Given the description of an element on the screen output the (x, y) to click on. 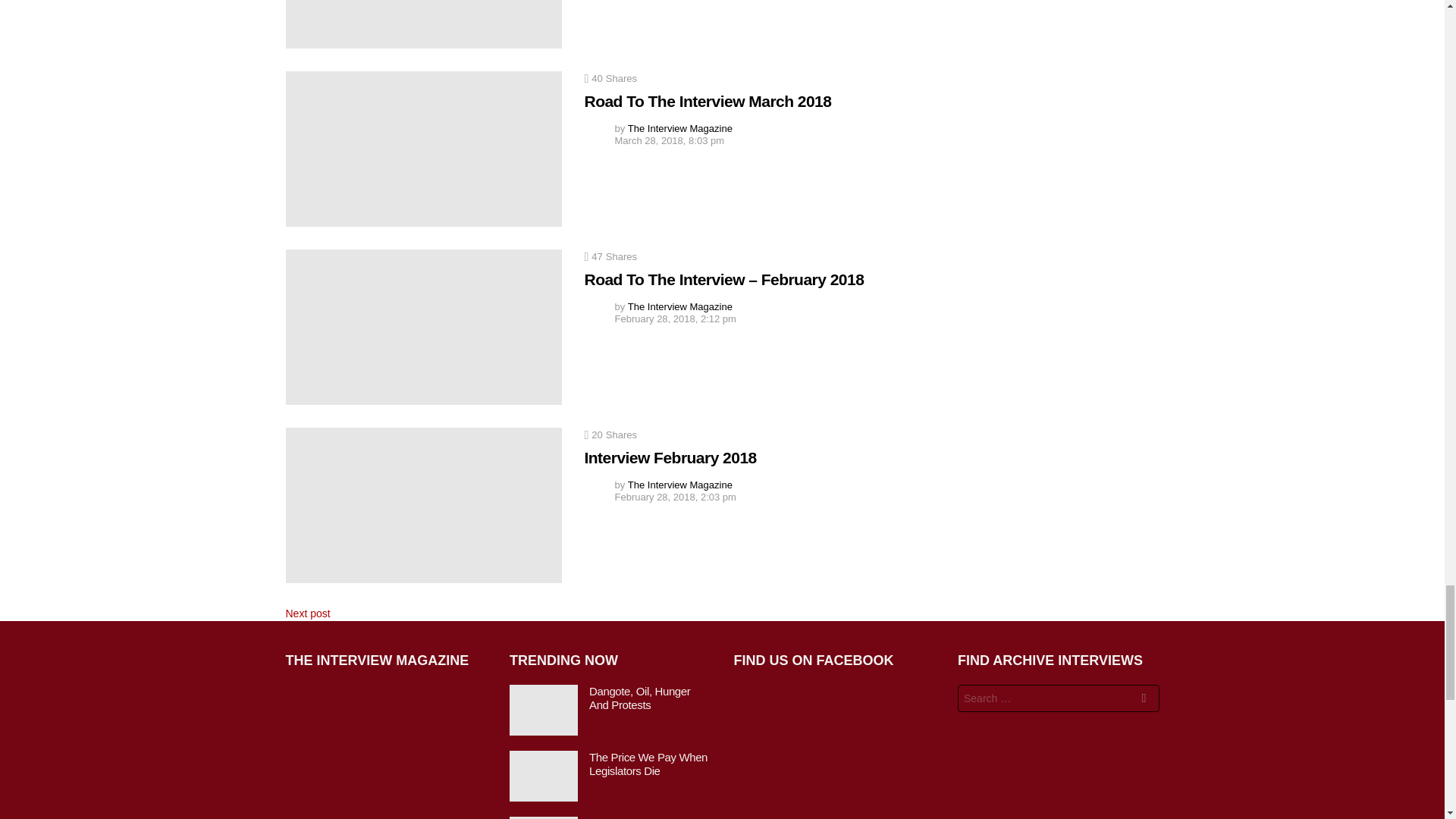
Road To The Interview April 2018 (422, 24)
